Given the description of an element on the screen output the (x, y) to click on. 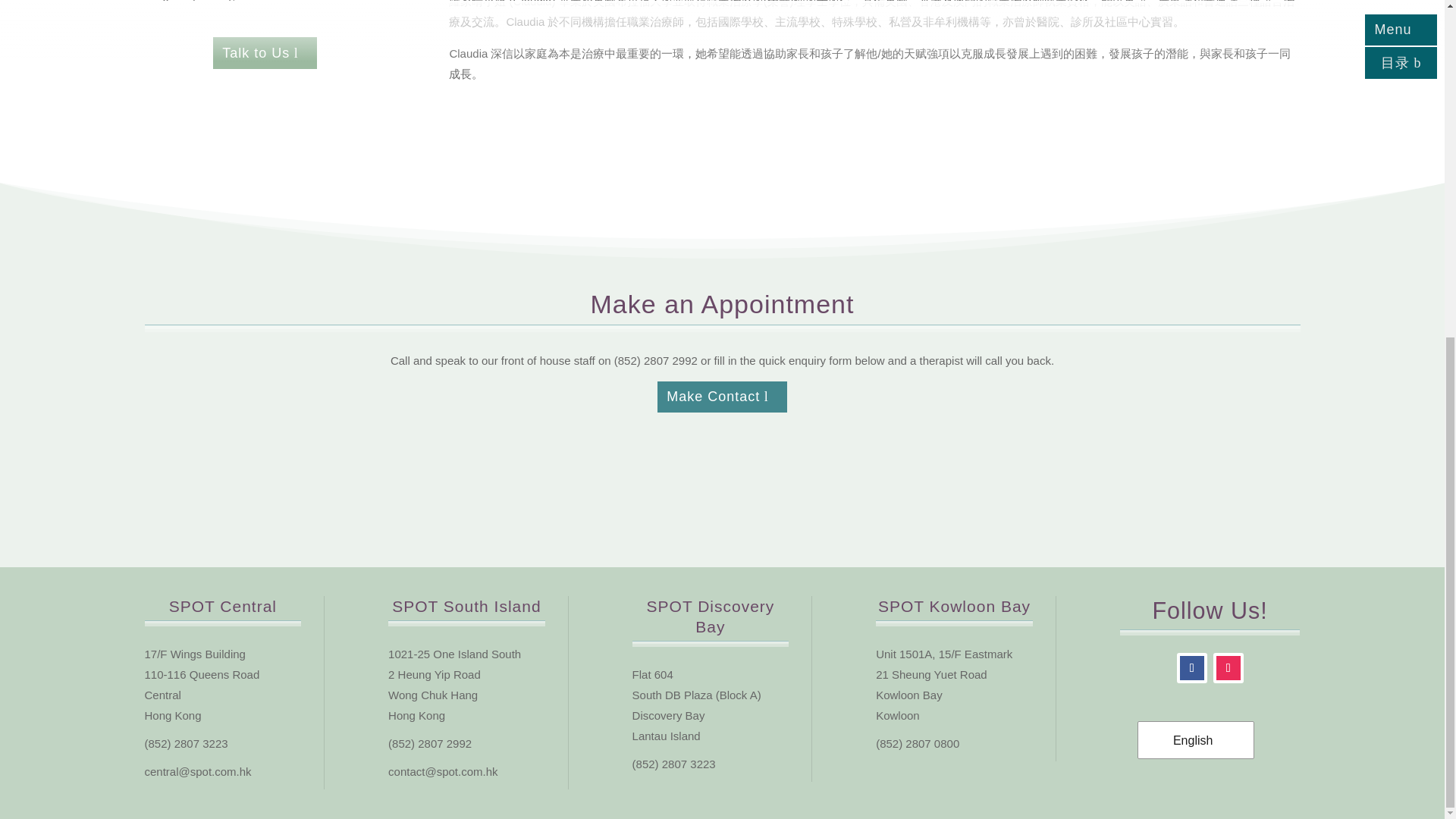
Follow on Facebook (1191, 667)
Follow on Instagram (1227, 667)
English (1193, 739)
